Given the description of an element on the screen output the (x, y) to click on. 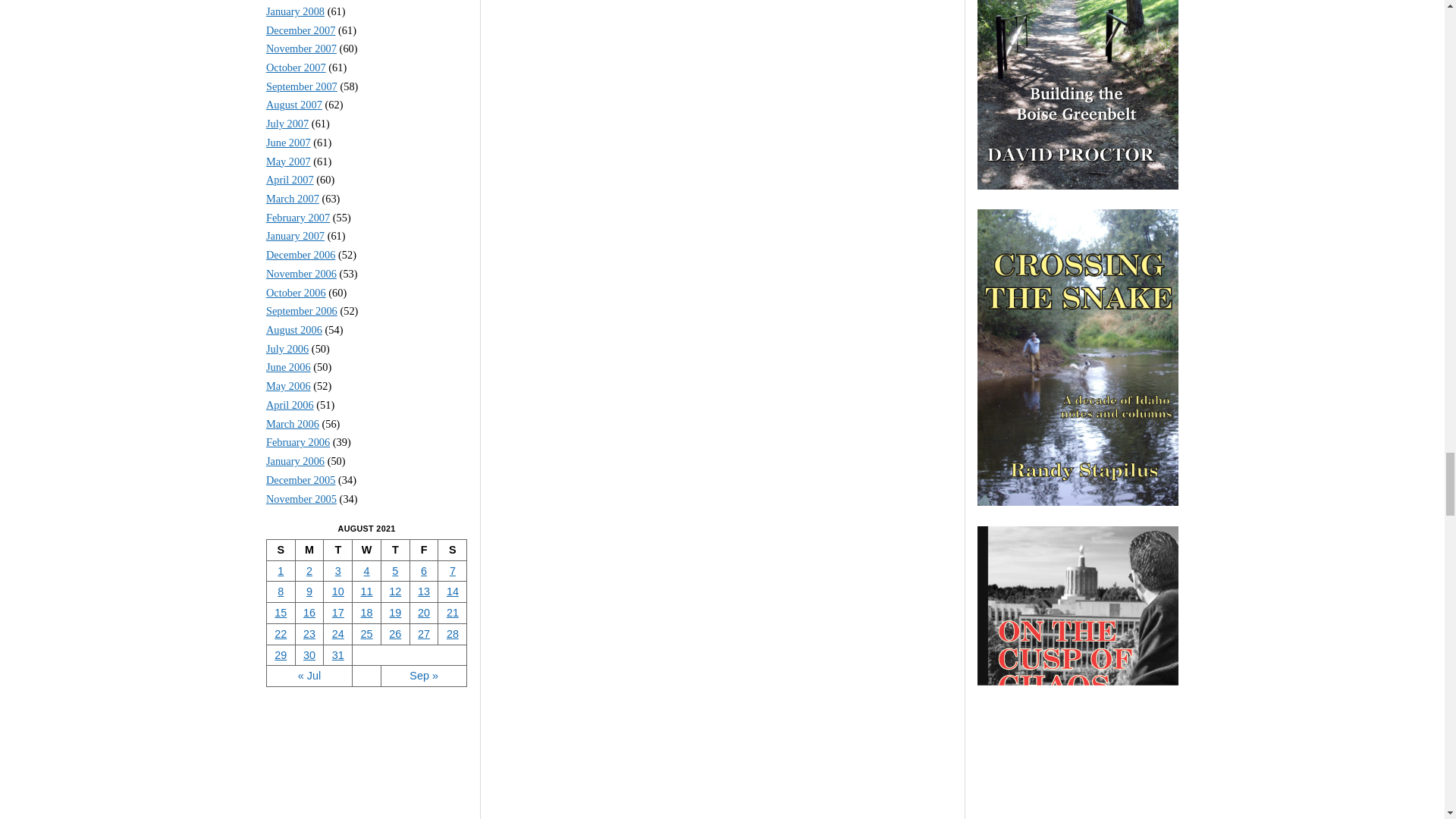
Tuesday (337, 550)
Sunday (280, 550)
Friday (423, 550)
Wednesday (366, 550)
Saturday (452, 550)
Thursday (394, 550)
Monday (309, 550)
